Given the description of an element on the screen output the (x, y) to click on. 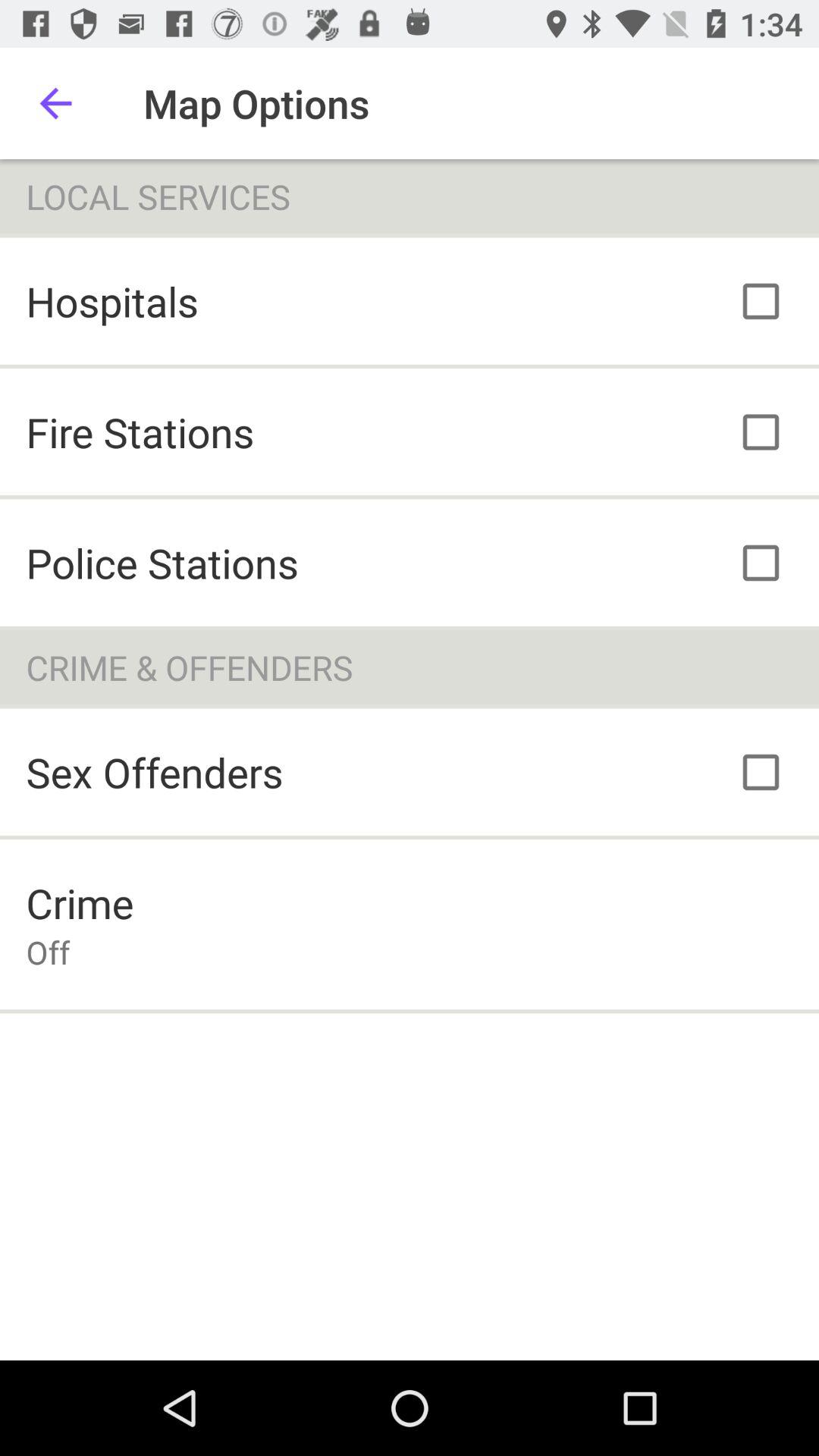
choose the icon below the crime & offenders (154, 771)
